Given the description of an element on the screen output the (x, y) to click on. 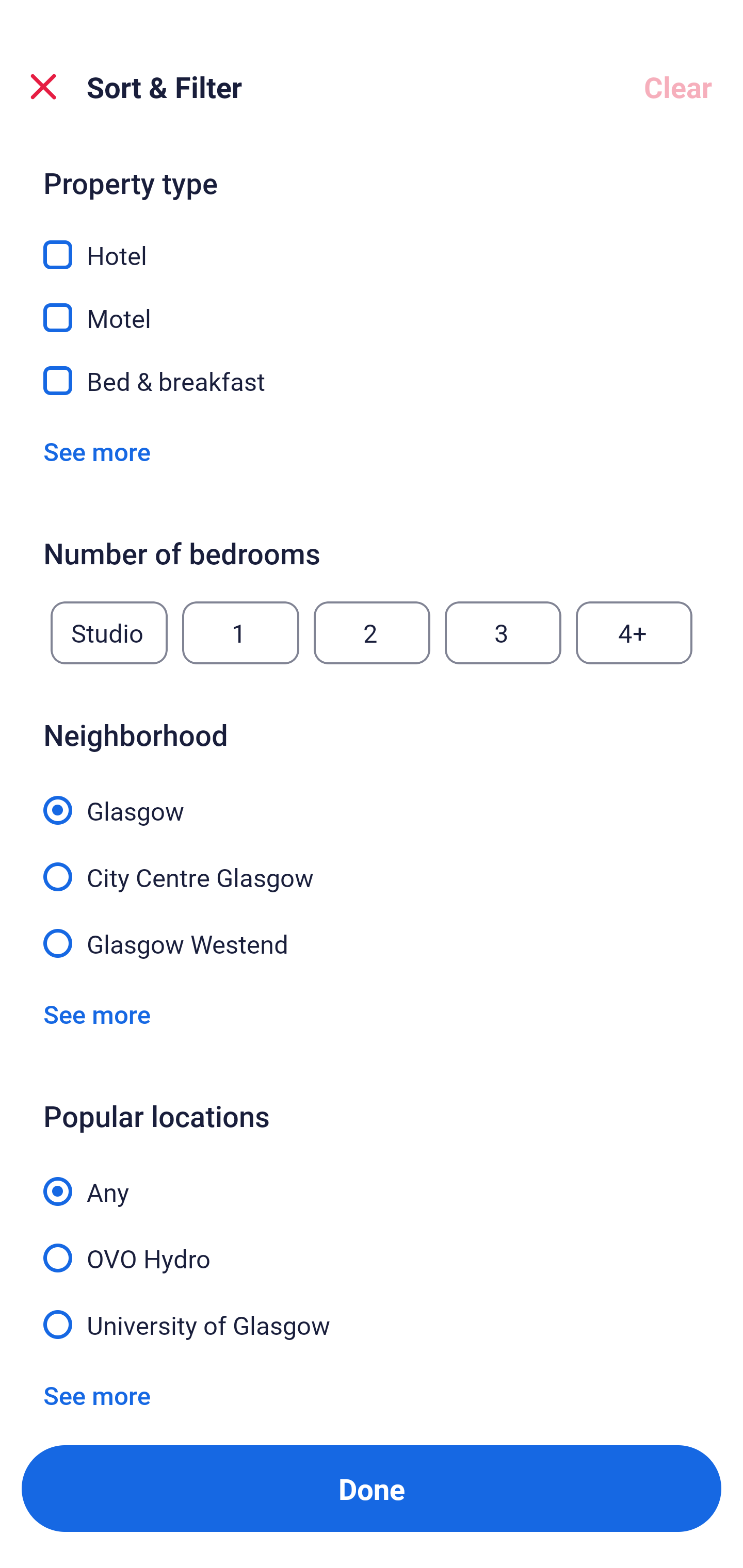
Close Sort and Filter (43, 86)
Clear (677, 86)
Hotel, Hotel (371, 242)
Motel, Motel (371, 305)
Bed & breakfast, Bed & breakfast (371, 380)
See more See more property types Link (96, 450)
Studio (108, 632)
1 (240, 632)
2 (371, 632)
3 (503, 632)
4+ (633, 632)
City Centre Glasgow (371, 865)
Glasgow Westend (371, 942)
See more See more neighborhoods Link (96, 1013)
OVO Hydro (371, 1246)
University of Glasgow (371, 1323)
See more See more popular locations Link (96, 1394)
Apply and close Sort and Filter Done (371, 1488)
